Given the description of an element on the screen output the (x, y) to click on. 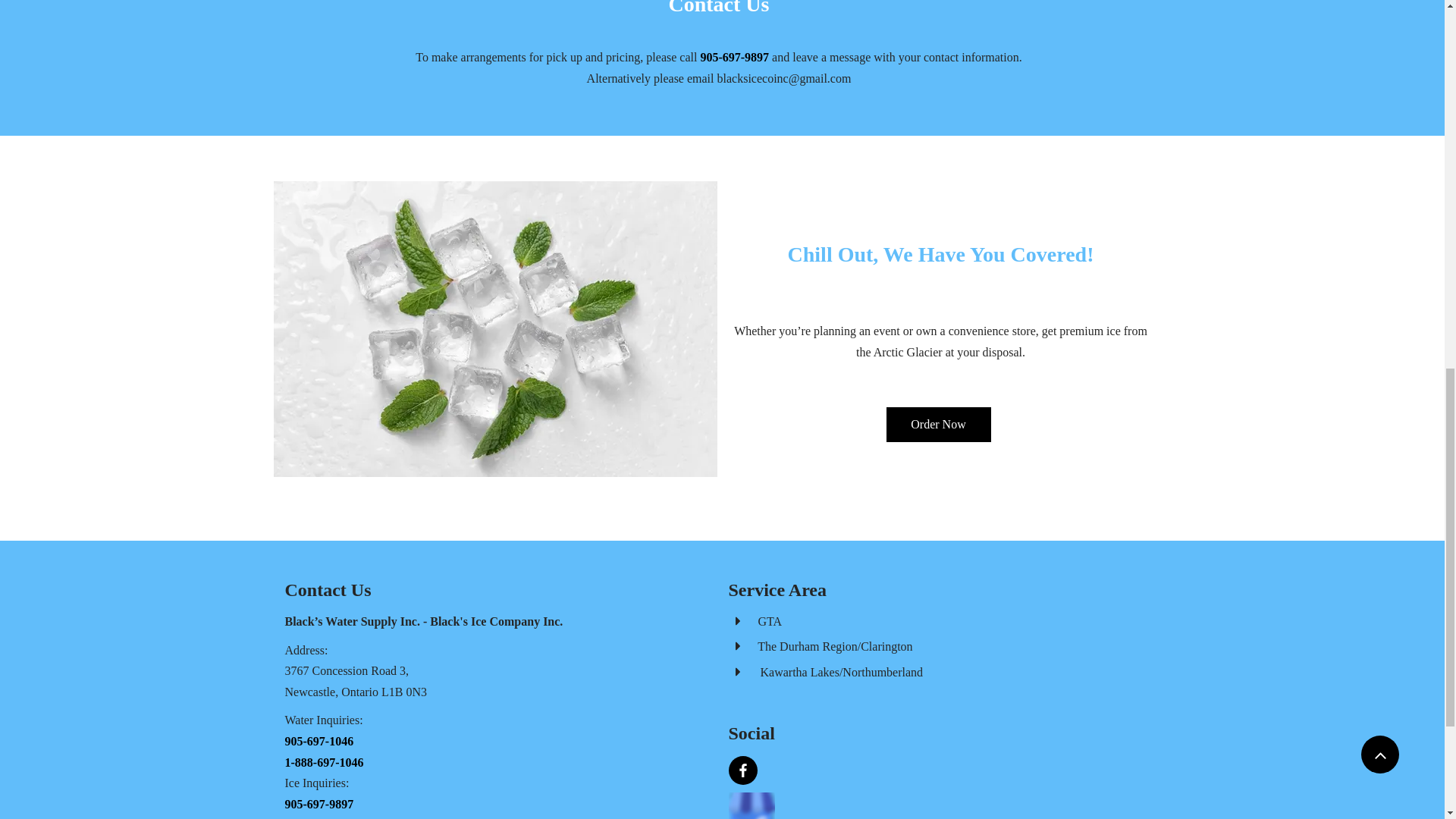
Order Now (937, 424)
905-697-9897 (734, 56)
